Given the description of an element on the screen output the (x, y) to click on. 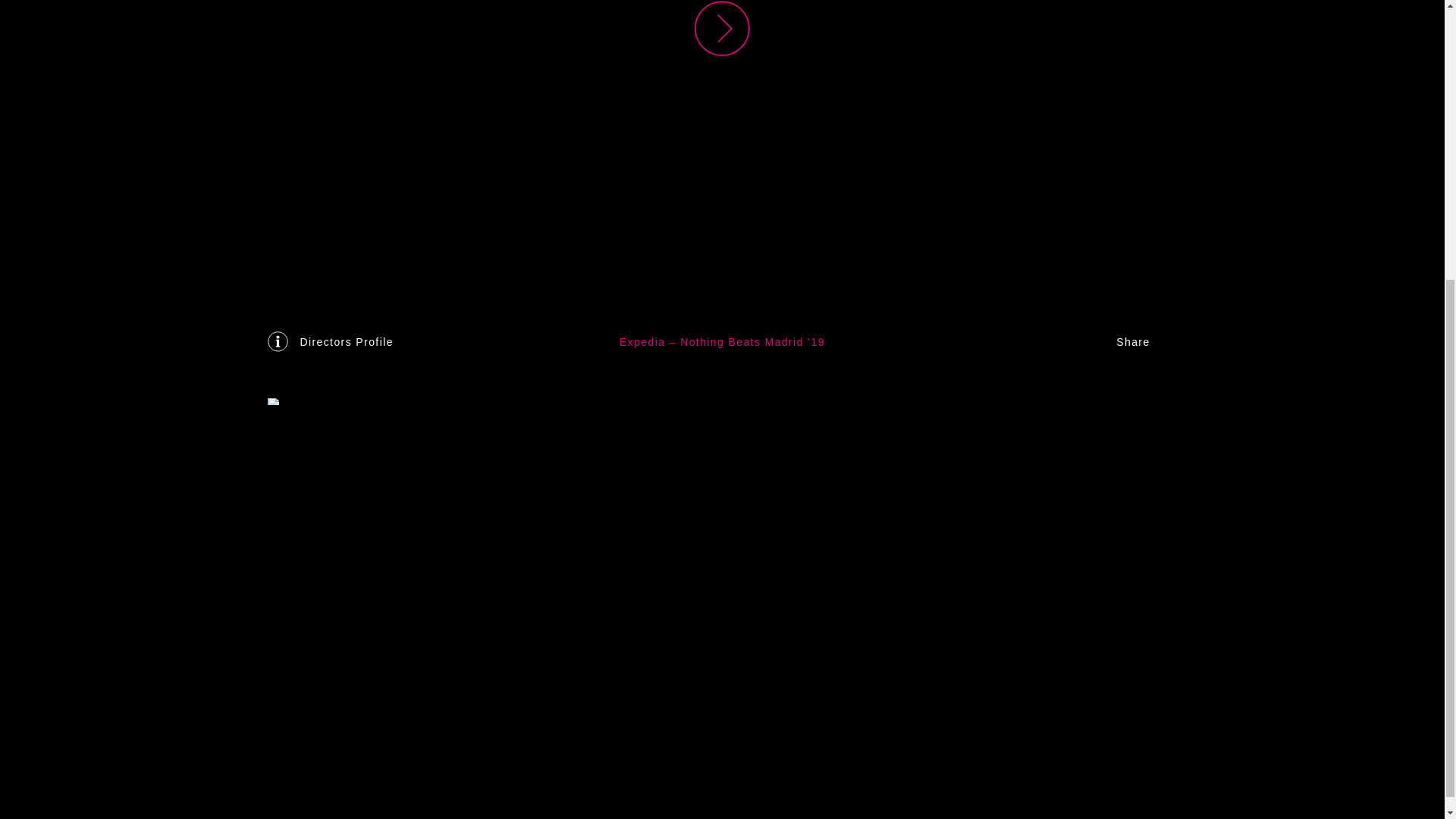
Share (1146, 341)
Double Act (722, 30)
